Given the description of an element on the screen output the (x, y) to click on. 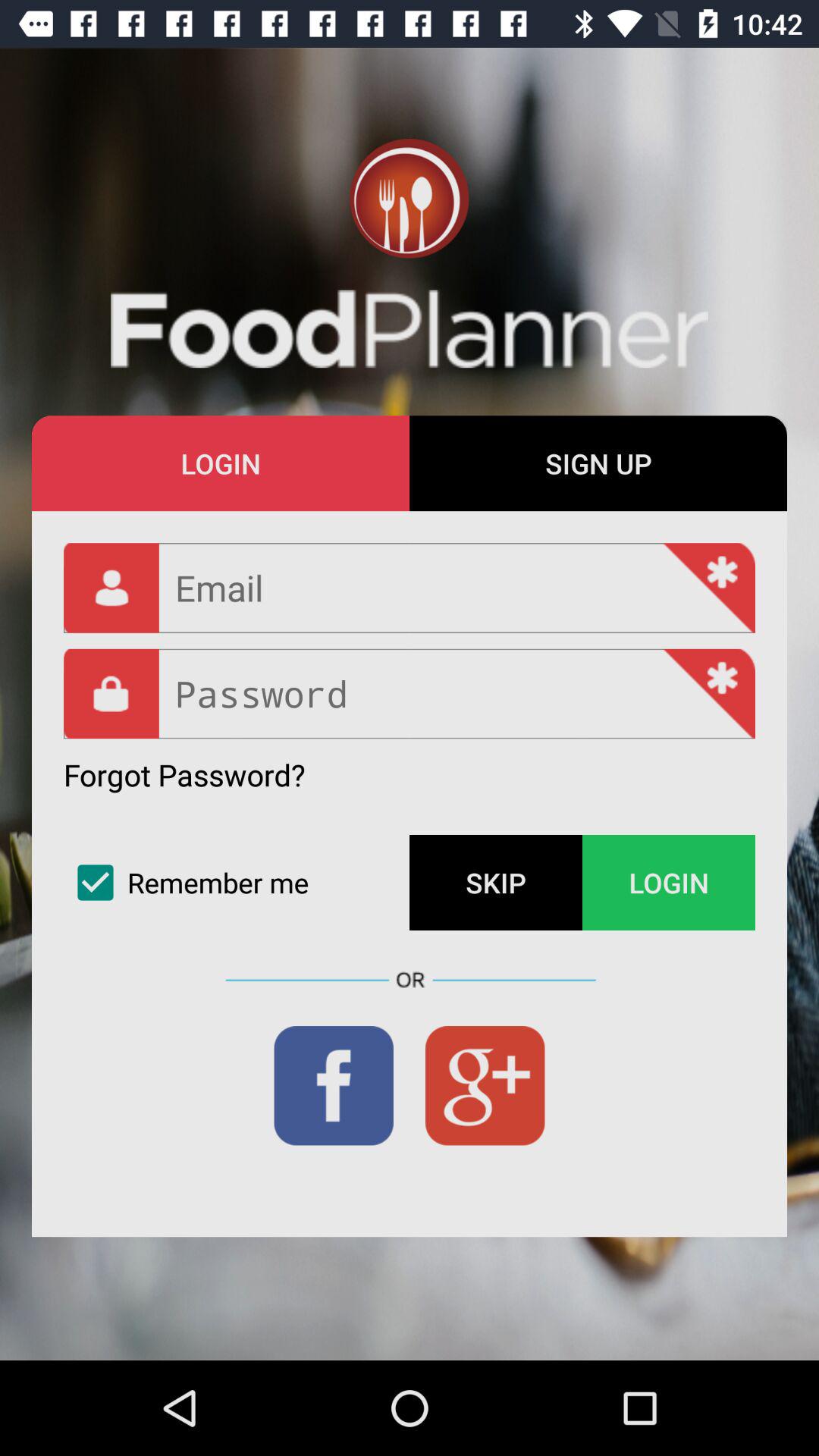
tap the item next to the login icon (495, 882)
